Given the description of an element on the screen output the (x, y) to click on. 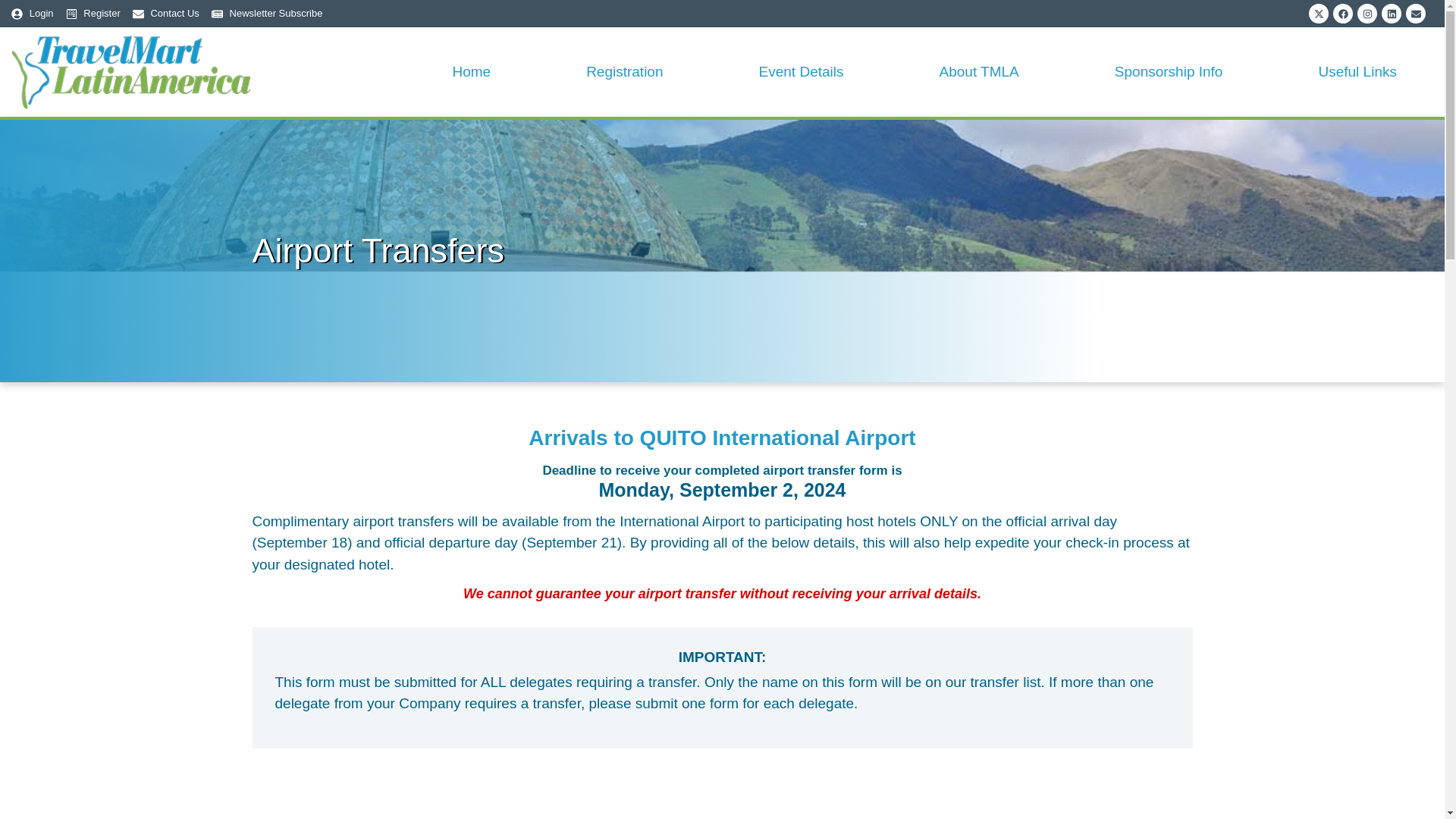
Registration (624, 71)
About TMLA (979, 71)
Register (92, 13)
Contact Us (165, 13)
Home (471, 71)
Sponsorship Info (1169, 71)
Newsletter Subscribe (267, 13)
Event Details (801, 71)
Login (32, 13)
